Given the description of an element on the screen output the (x, y) to click on. 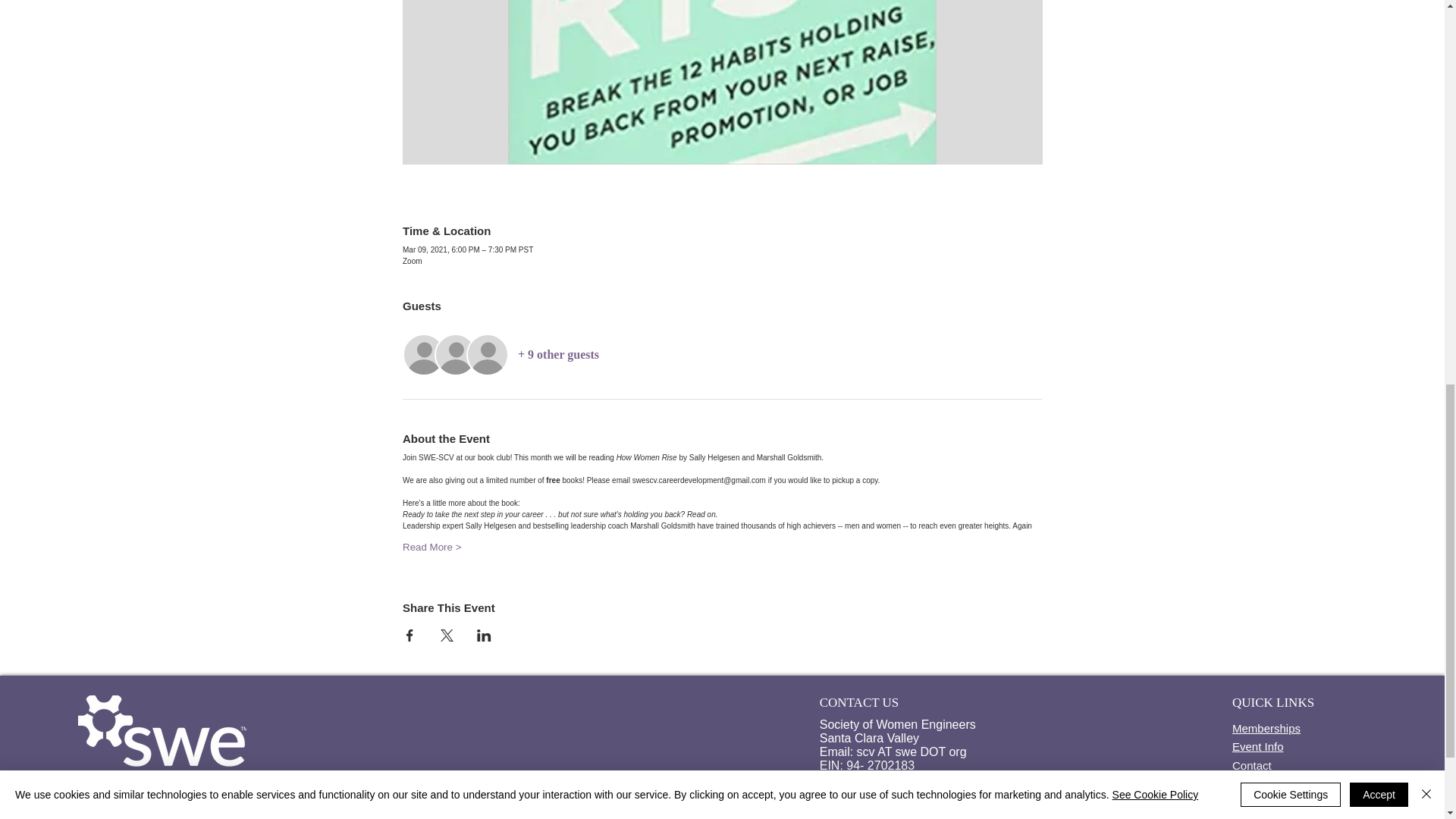
Event Info (1257, 744)
Memberships (1265, 726)
Contact (1251, 763)
